Given the description of an element on the screen output the (x, y) to click on. 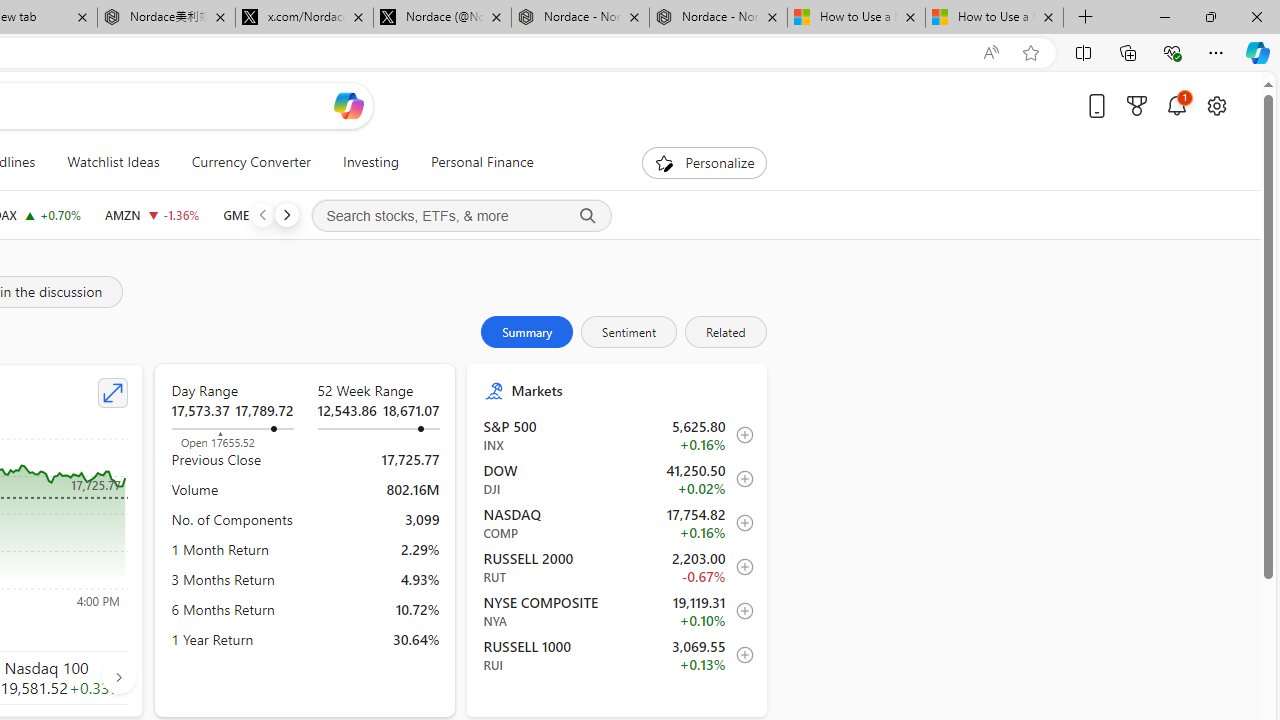
Currency Converter (250, 162)
Nordace (@NordaceOfficial) / X (441, 17)
Personal Finance (473, 162)
x.com/NordaceOfficial (303, 17)
AMZN AMAZON.COM, INC. decrease 173.12 -2.38 -1.36% (152, 214)
Investing (370, 162)
INX S&P 500 increase 5,625.80 +8.96 +0.16% itemundefined (617, 435)
Class: notInWatclistIcon-DS-EntryPoint1-5 lightTheme (739, 655)
Markets (630, 390)
